Given the description of an element on the screen output the (x, y) to click on. 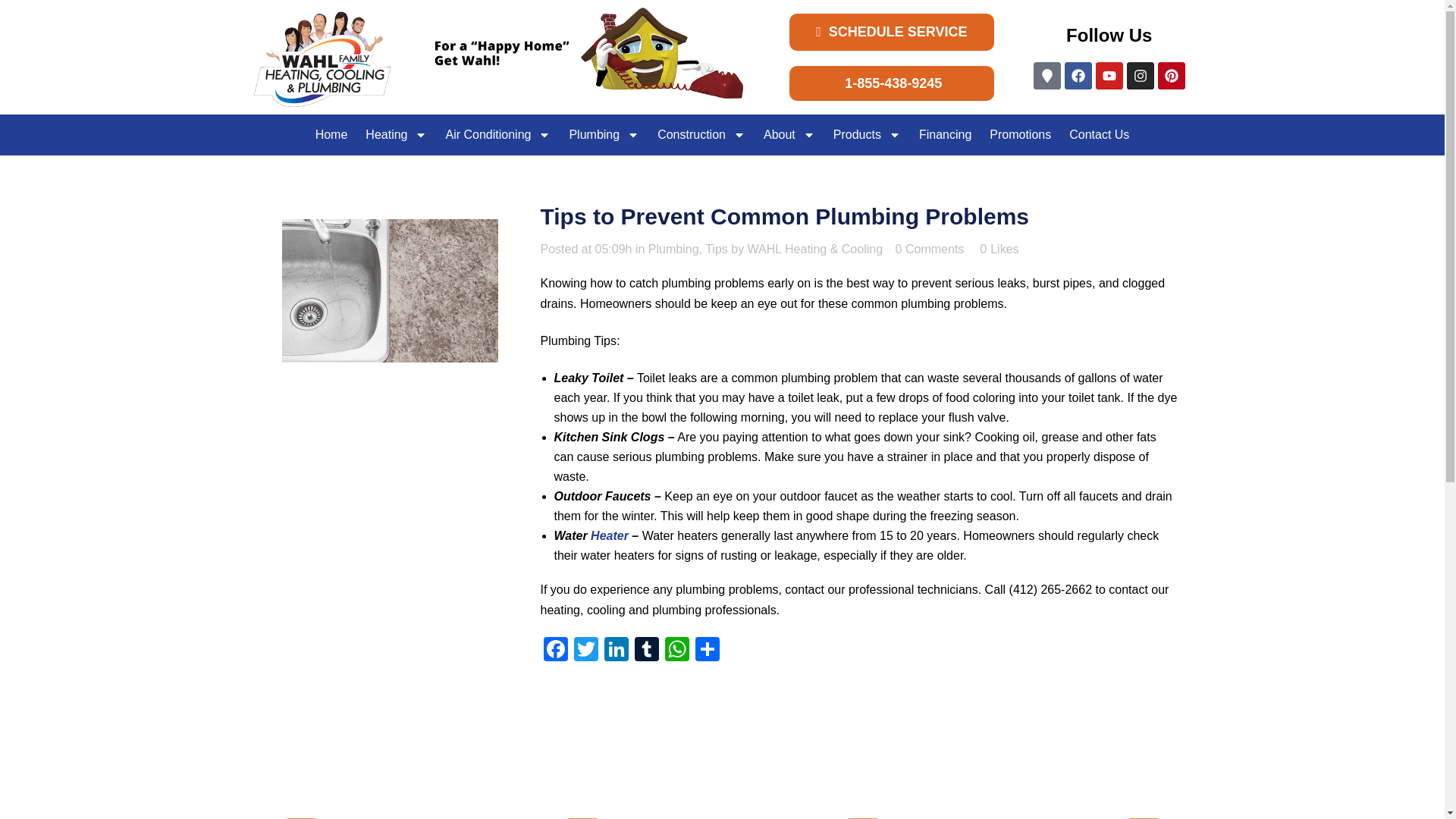
1-855-438-9245 (891, 83)
Products (867, 134)
LinkedIn (614, 651)
Promotions (1019, 134)
Home (330, 134)
Plumbing (603, 134)
Contact Us (1098, 134)
Heating (395, 134)
Financing (944, 134)
Construction (700, 134)
Like this (998, 249)
Twitter (584, 651)
About (789, 134)
Tumblr (645, 651)
WhatsApp (676, 651)
